Given the description of an element on the screen output the (x, y) to click on. 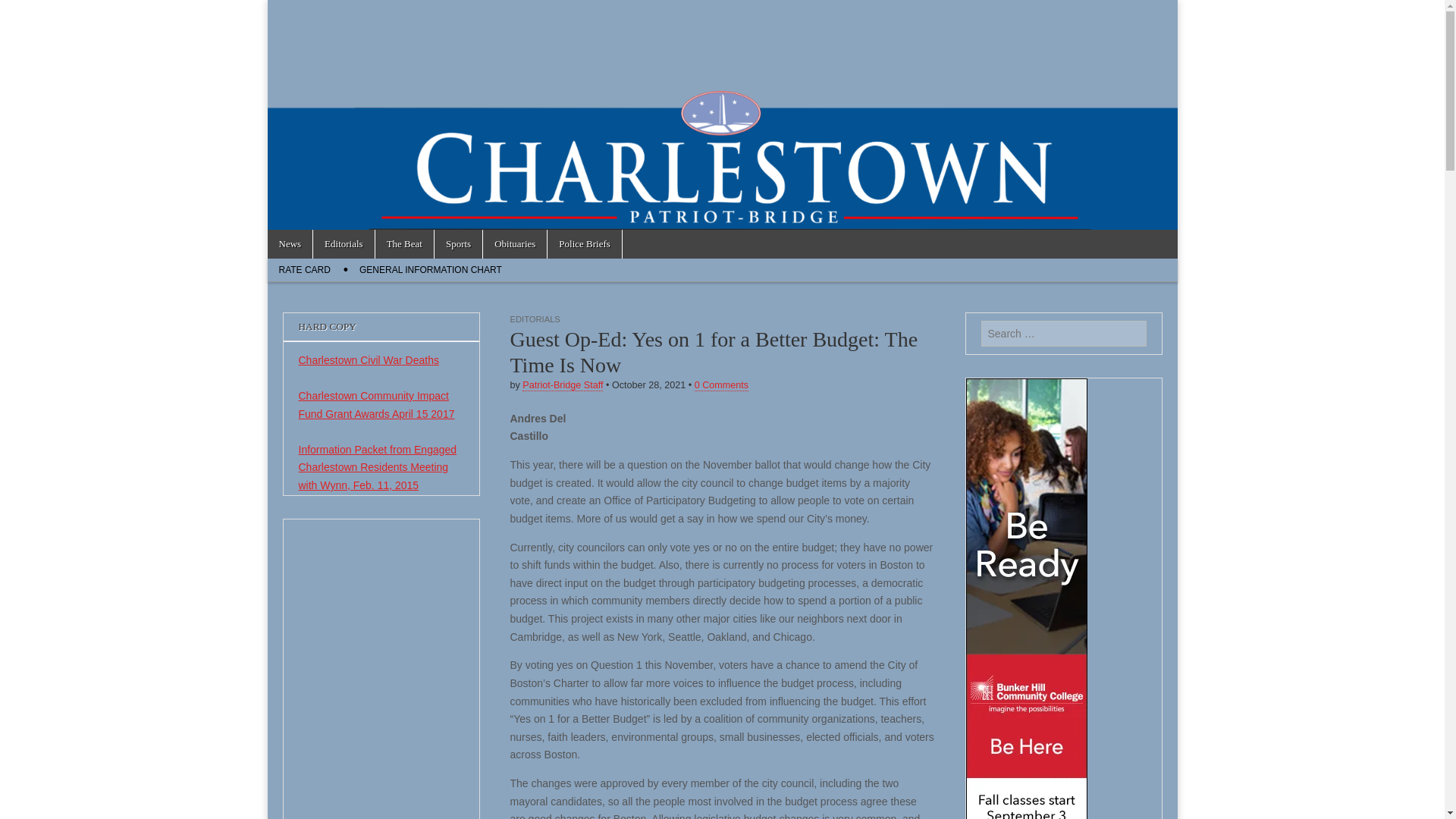
Obituaries (515, 244)
Search (23, 12)
Editorials (343, 244)
GENERAL INFORMATION CHART (430, 269)
Police Briefs (584, 244)
Sports (457, 244)
Charlestown Community Impact Fund Grant Awards April 15 2017 (376, 404)
The Beat (404, 244)
EDITORIALS (534, 318)
News (289, 244)
Charlestown Civil War Deaths (368, 359)
0 Comments (721, 385)
